Given the description of an element on the screen output the (x, y) to click on. 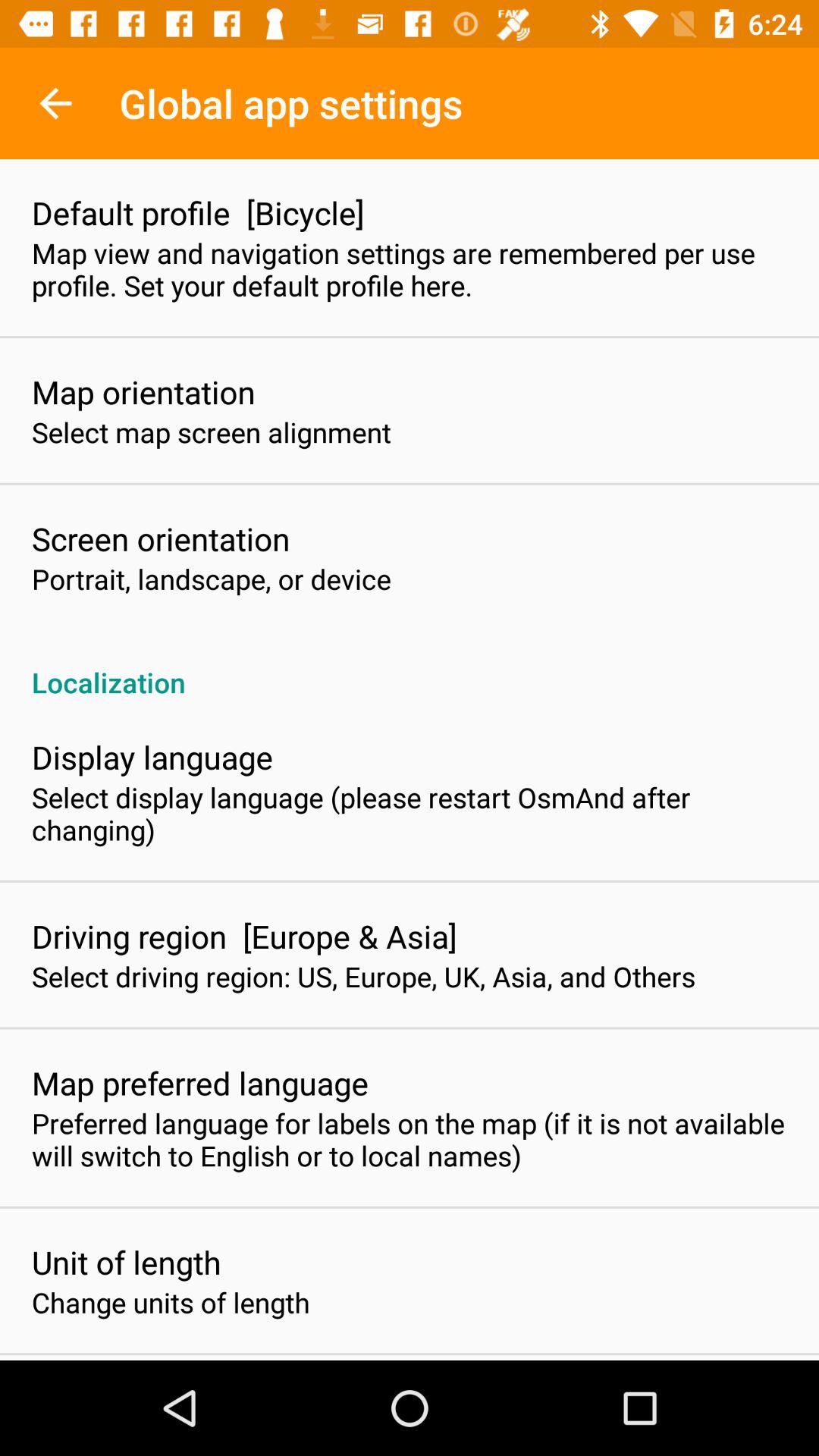
tap the change units of item (170, 1302)
